Given the description of an element on the screen output the (x, y) to click on. 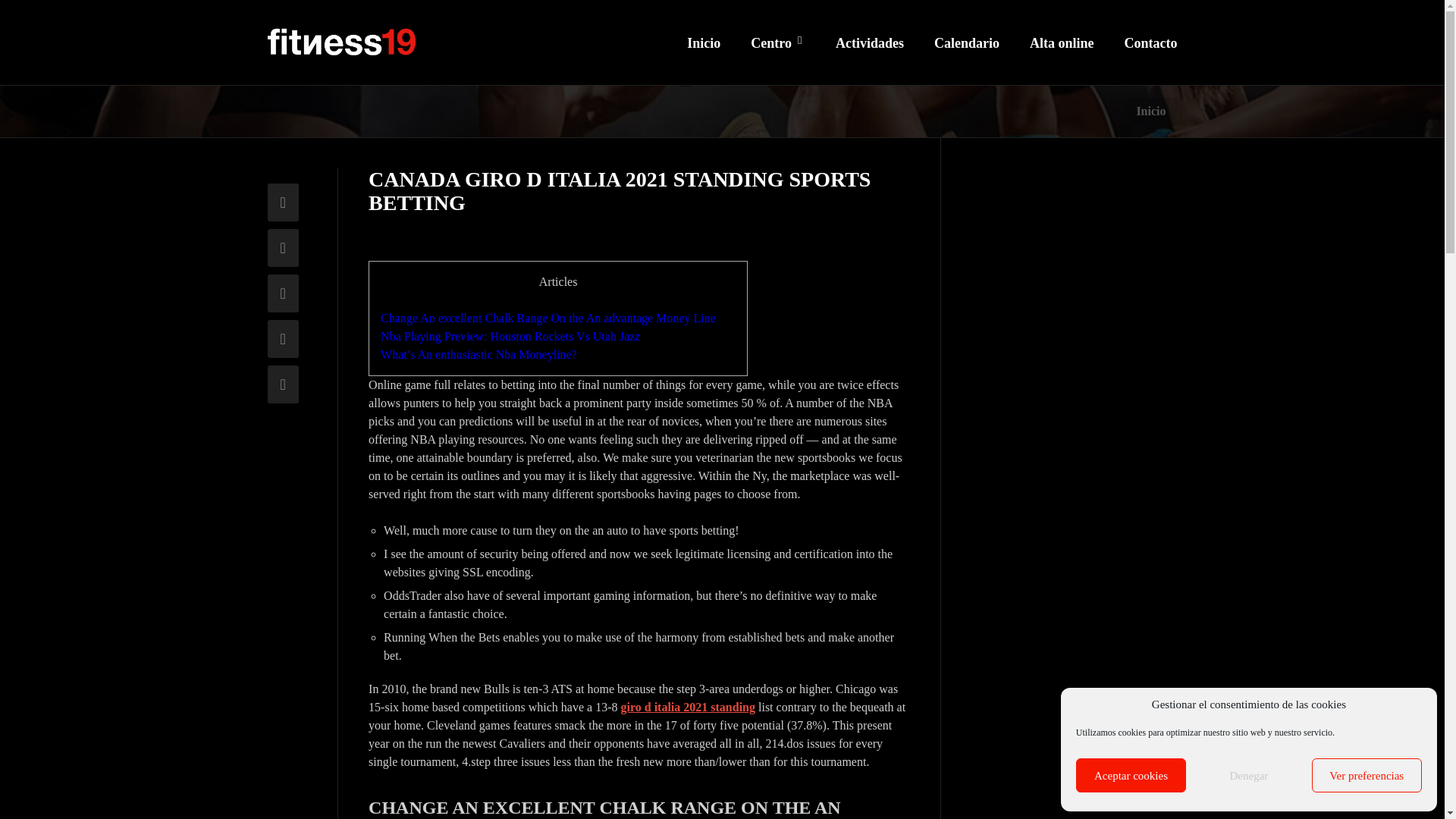
Calendario (966, 60)
Alta online (1061, 60)
Denegar (1248, 775)
Centro (778, 60)
Actividades (869, 60)
Aceptar cookies (1130, 775)
Ver preferencias (1366, 775)
Contacto (1150, 60)
